Given the description of an element on the screen output the (x, y) to click on. 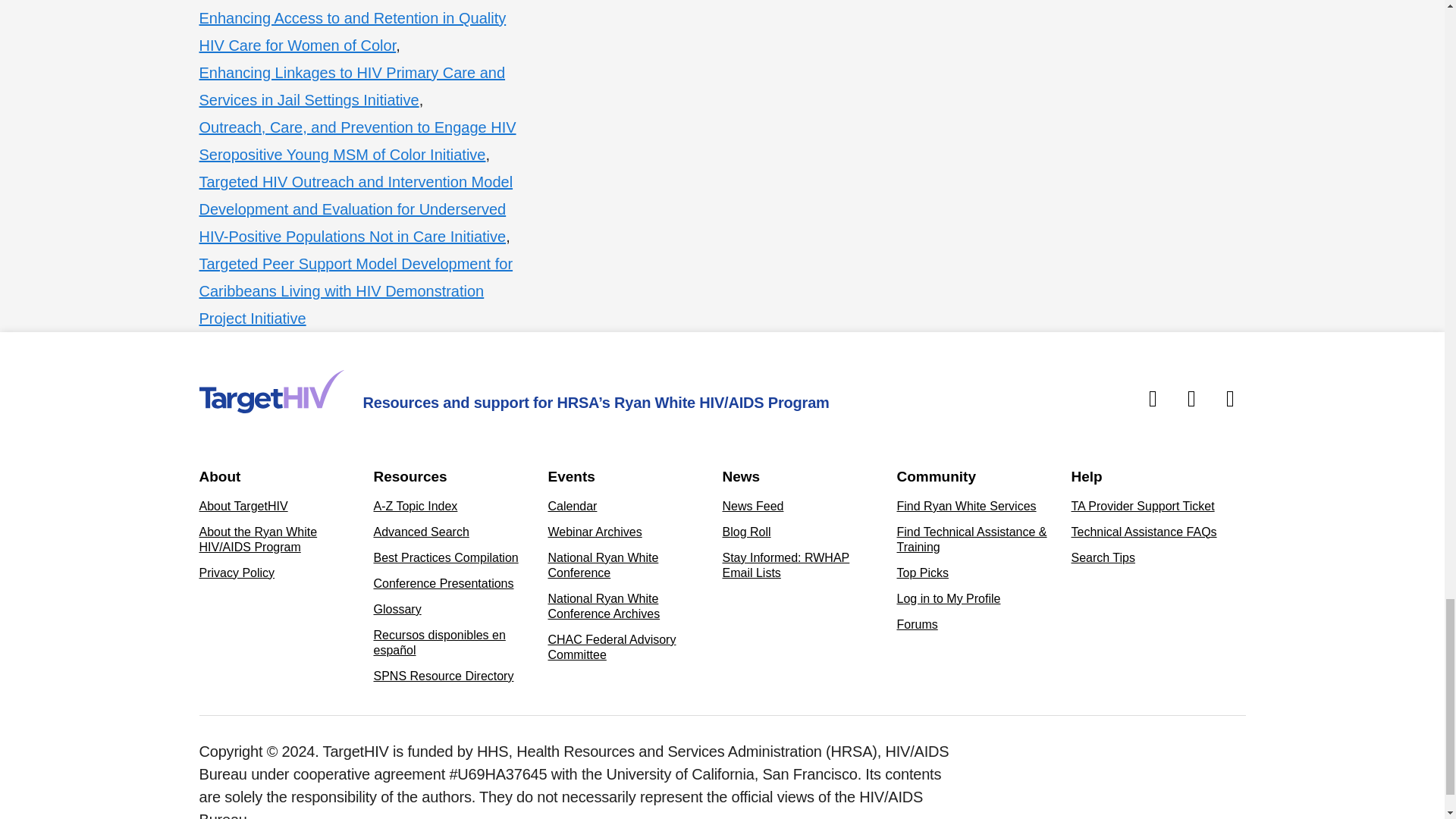
Home (270, 391)
